Given the description of an element on the screen output the (x, y) to click on. 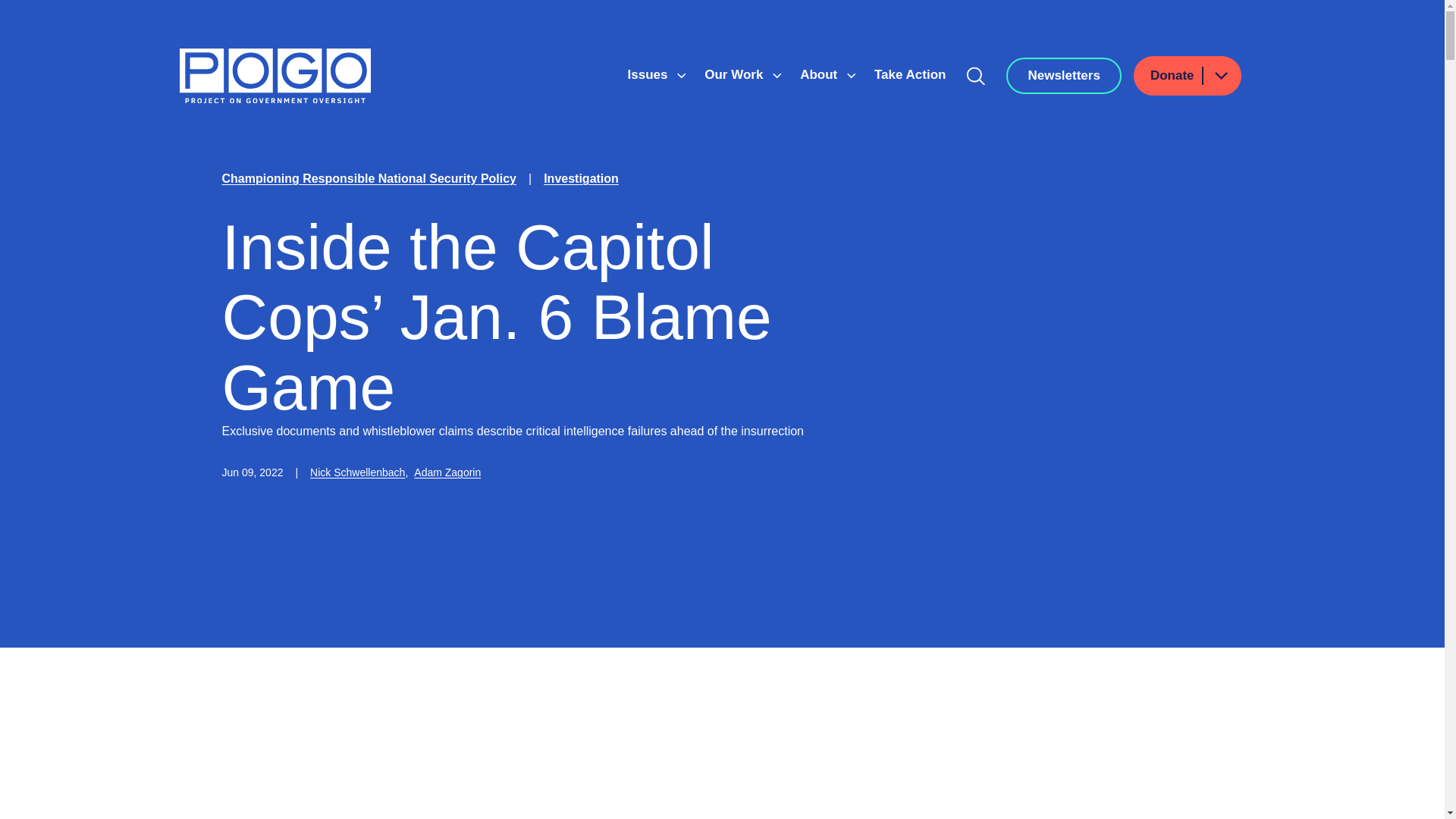
Show submenu for Our Work (777, 75)
Newsletters (1063, 75)
Our Work (735, 74)
Search (976, 75)
Issues (649, 74)
Take Action (909, 74)
Show submenu for Donate (1220, 75)
Donate (1187, 75)
Show submenu for Issues (681, 75)
Home (274, 75)
Show submenu for About (851, 75)
About (820, 74)
